Given the description of an element on the screen output the (x, y) to click on. 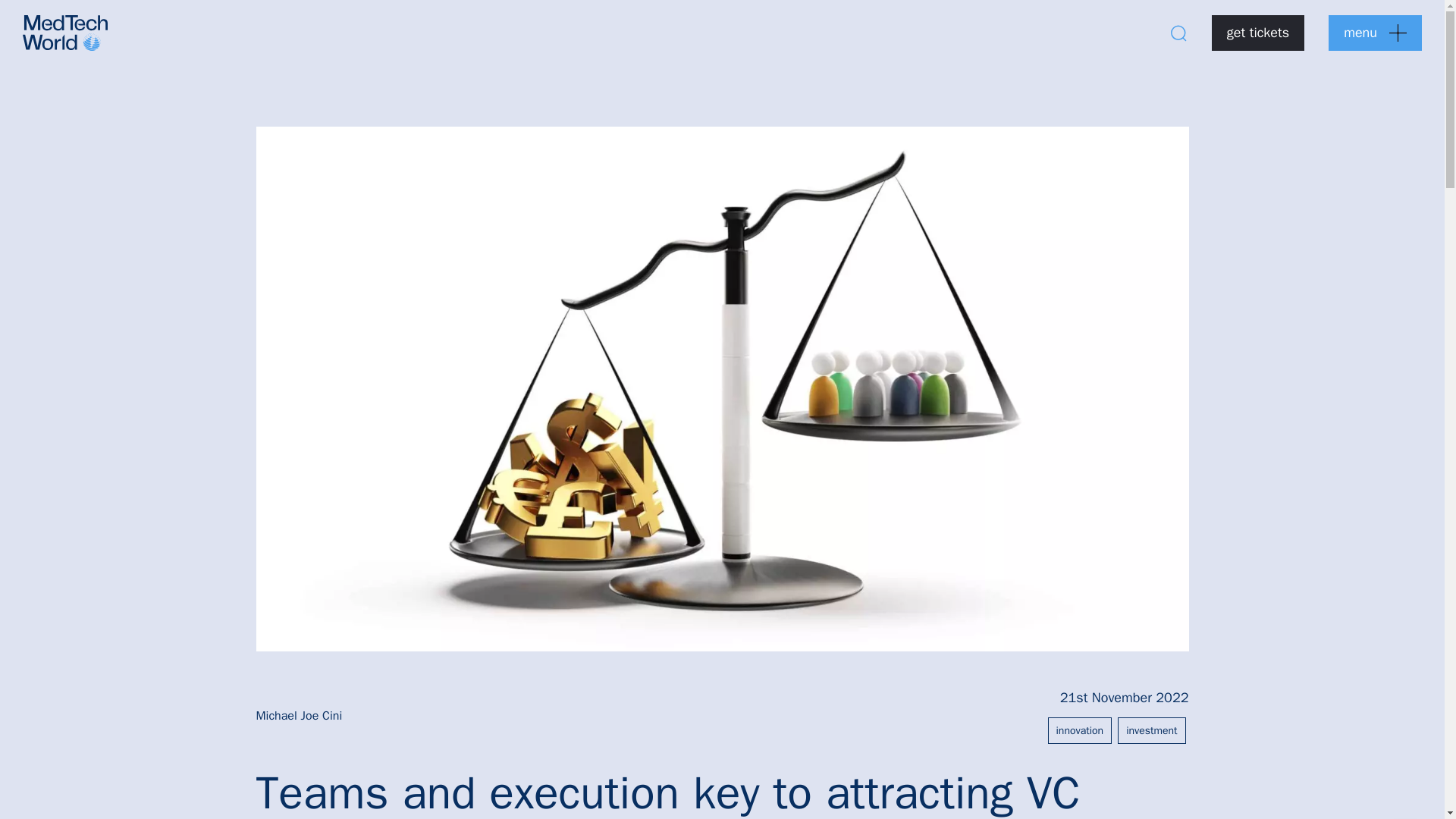
investment (1151, 730)
menu (1374, 32)
get tickets (1257, 32)
innovation (1080, 730)
